Given the description of an element on the screen output the (x, y) to click on. 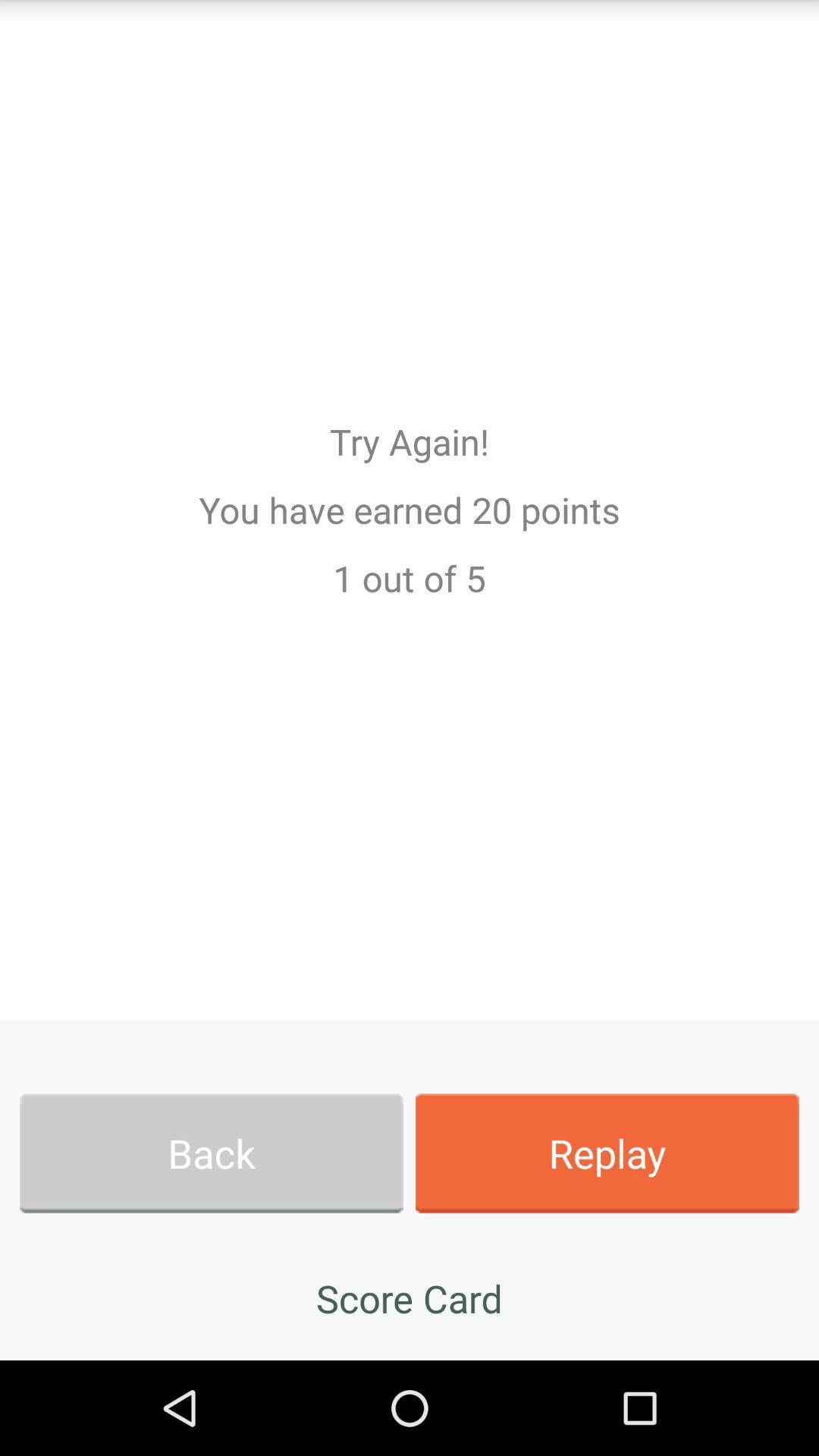
launch the app below the 1 out of item (607, 1153)
